Given the description of an element on the screen output the (x, y) to click on. 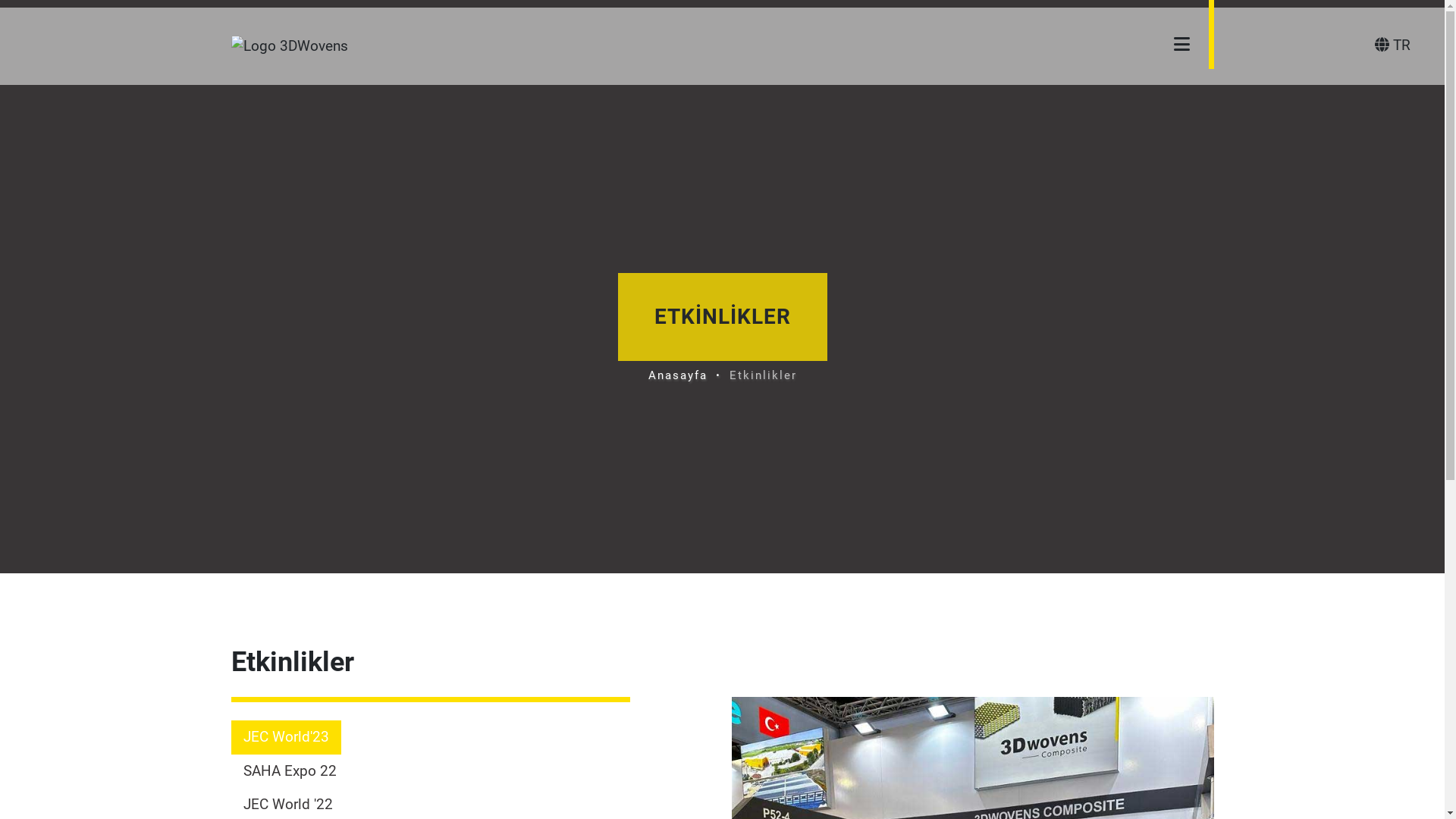
Anasayfa Element type: text (676, 375)
SAHA Expo 22 Element type: text (289, 771)
TR Element type: text (1392, 45)
JEC World'23 Element type: text (285, 737)
